Given the description of an element on the screen output the (x, y) to click on. 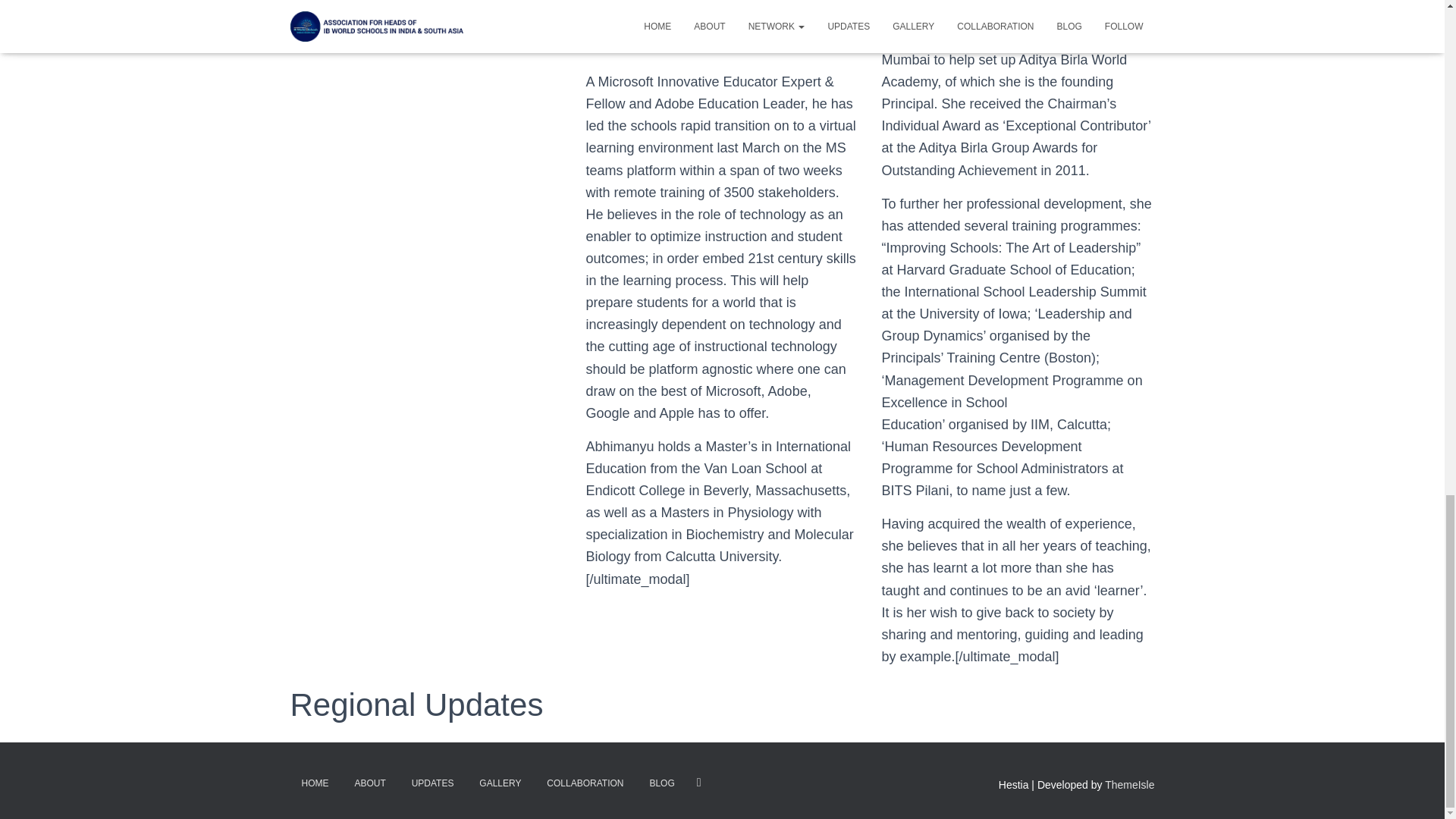
Updates (416, 704)
BLOG (661, 783)
Regional Updates (416, 704)
UPDATES (432, 783)
ThemeIsle (1129, 784)
COLLABORATION (584, 783)
GALLERY (499, 783)
ABOUT (369, 783)
HOME (314, 783)
